Given the description of an element on the screen output the (x, y) to click on. 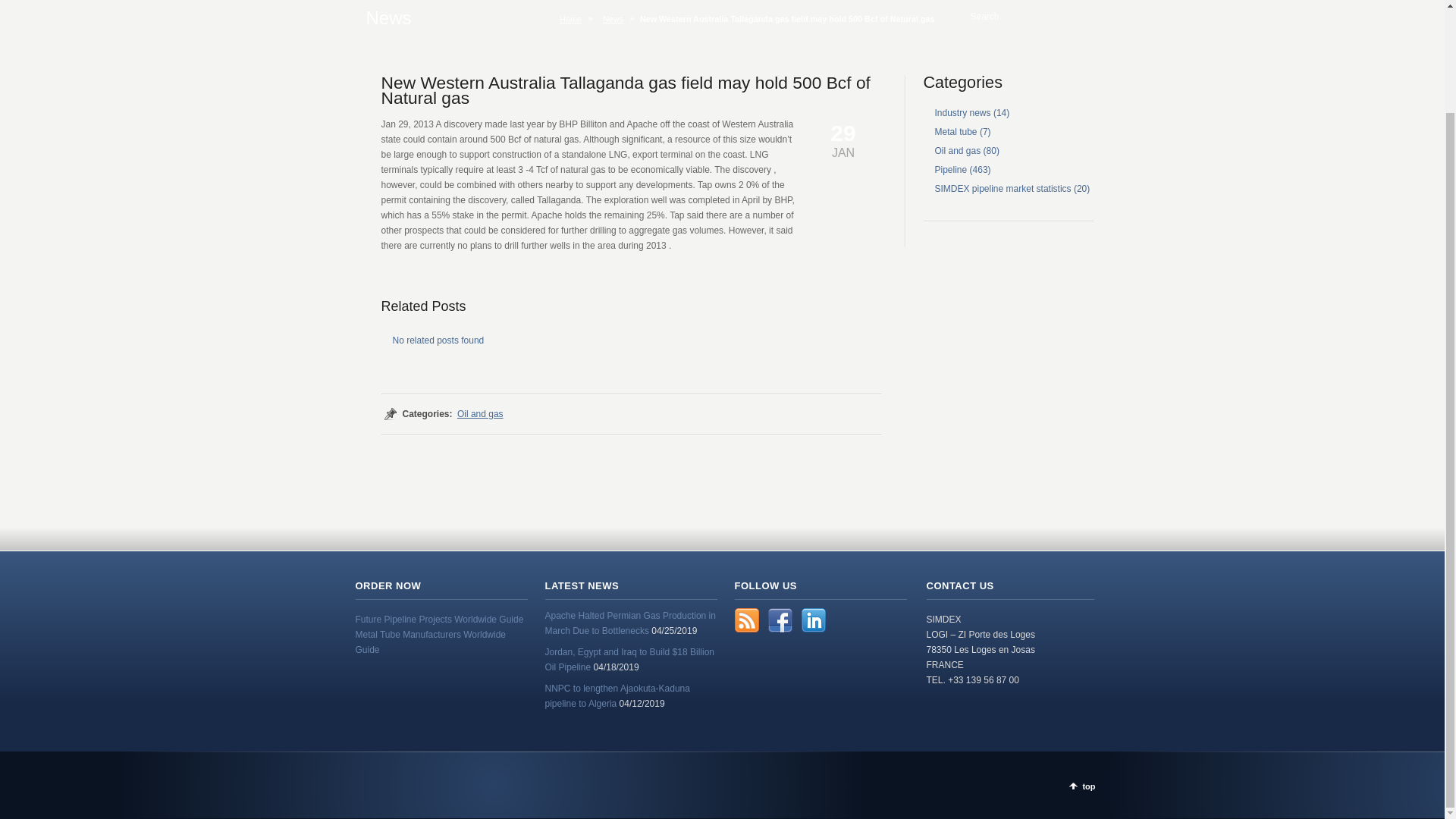
Pipeline (950, 169)
SIMDEX pipeline market statistics (1002, 188)
Metal tube (955, 131)
Metal Tube Manufacturers Worldwide Guide (430, 642)
Oil and gas (480, 413)
Search (1016, 16)
Oil and gas (956, 150)
News (615, 18)
NNPC to lengthen Ajaokuta-Kaduna pipeline to Algeria (616, 696)
